Given the description of an element on the screen output the (x, y) to click on. 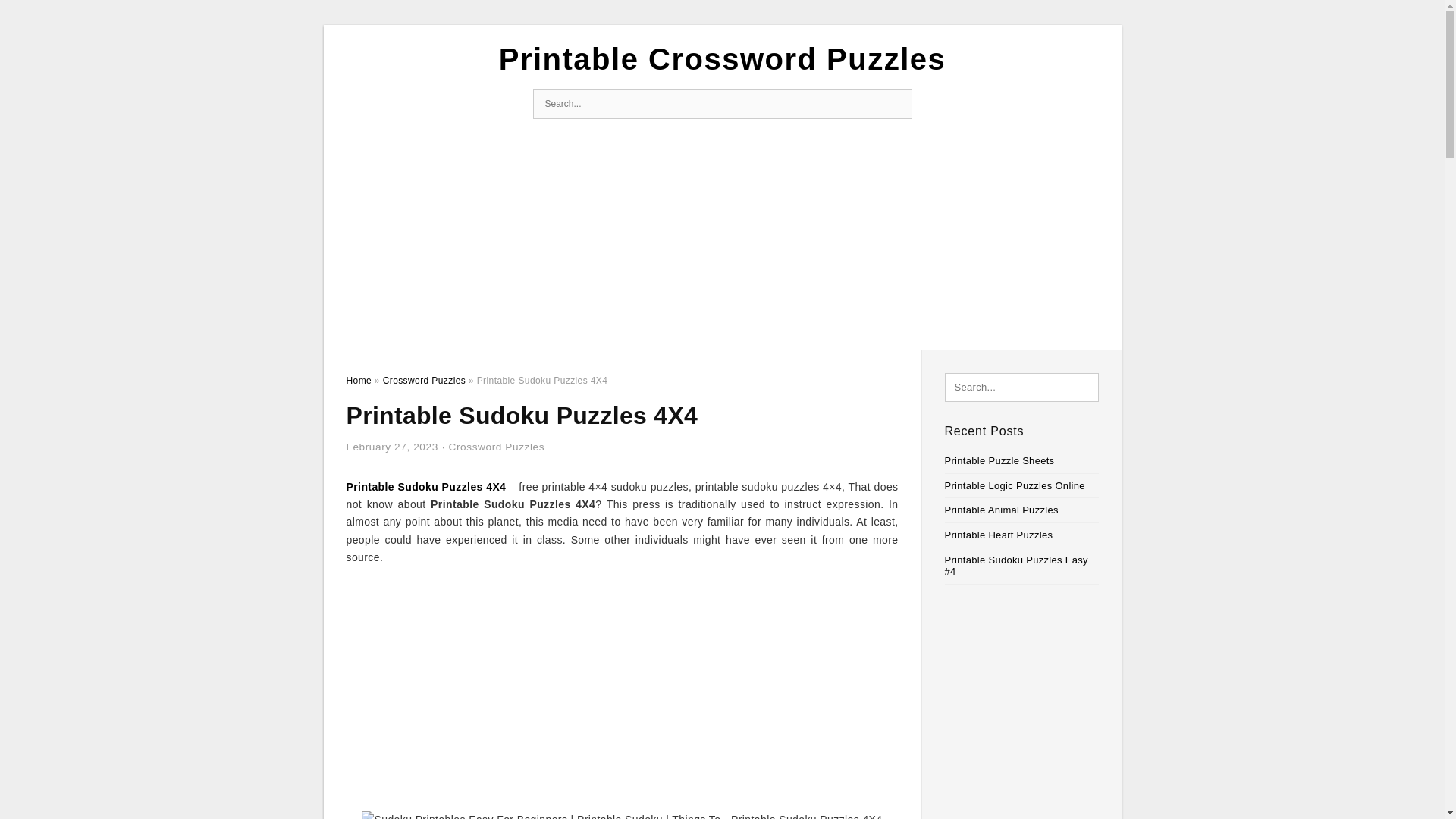
Printable Logic Puzzles Online (1014, 485)
Printable Heart Puzzles (998, 534)
Printable Sudoku Puzzles 4X4 (425, 486)
Search (895, 104)
Printable Animal Puzzles (1001, 509)
Search (895, 104)
Crossword Puzzles (423, 380)
Printable Puzzle Sheets (999, 460)
Printable Crossword Puzzles (722, 59)
Search (895, 104)
Crossword Puzzles (496, 446)
Search for: (721, 103)
Search (43, 15)
